Given the description of an element on the screen output the (x, y) to click on. 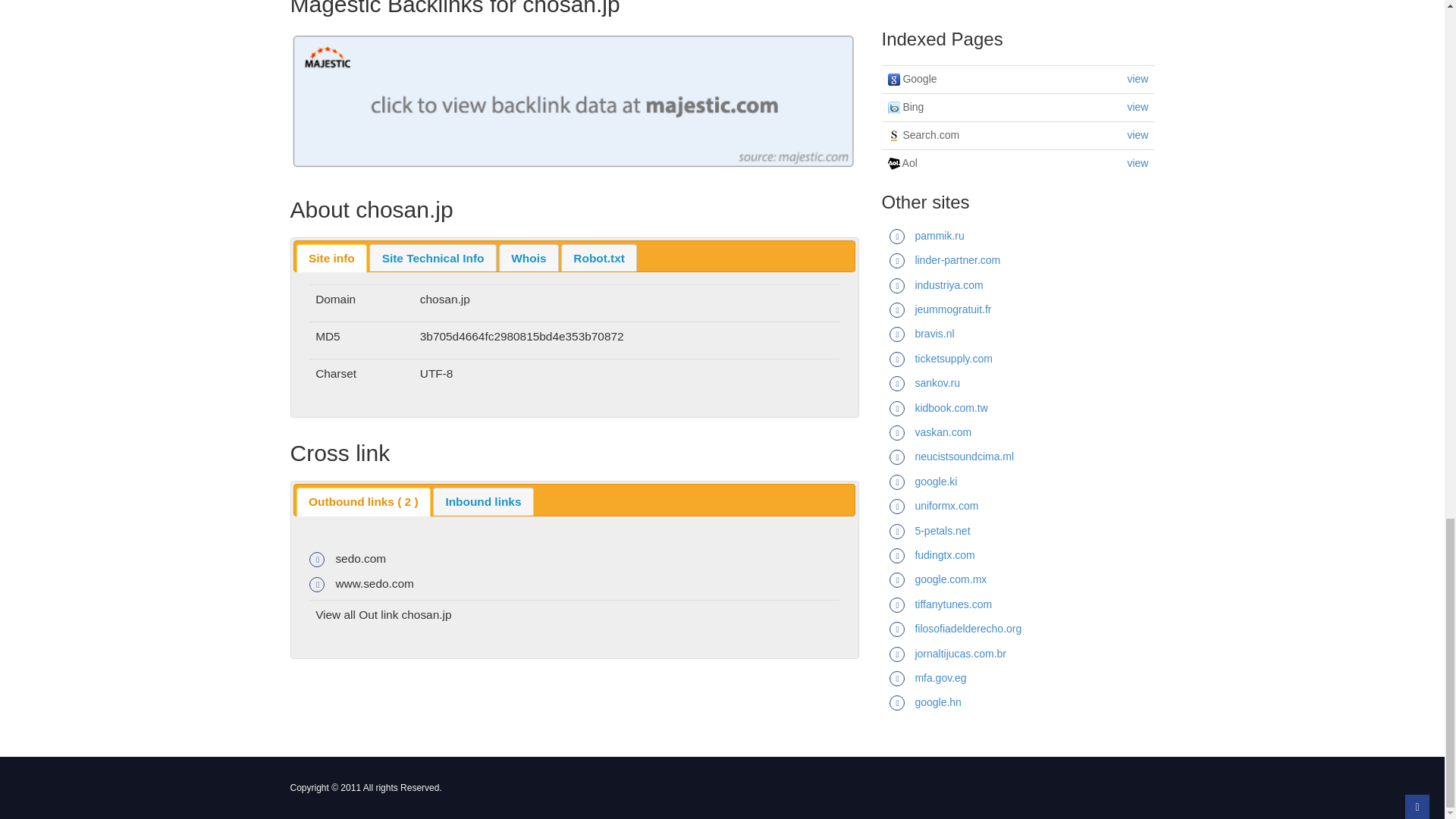
chosan.jp (426, 614)
Inbound links (482, 501)
sedo.com (359, 558)
www.sedo.com (373, 583)
Advertisement (1017, 7)
Site info (331, 257)
Whois (528, 257)
Robot.txt (599, 257)
Site Technical Info (432, 257)
